Given the description of an element on the screen output the (x, y) to click on. 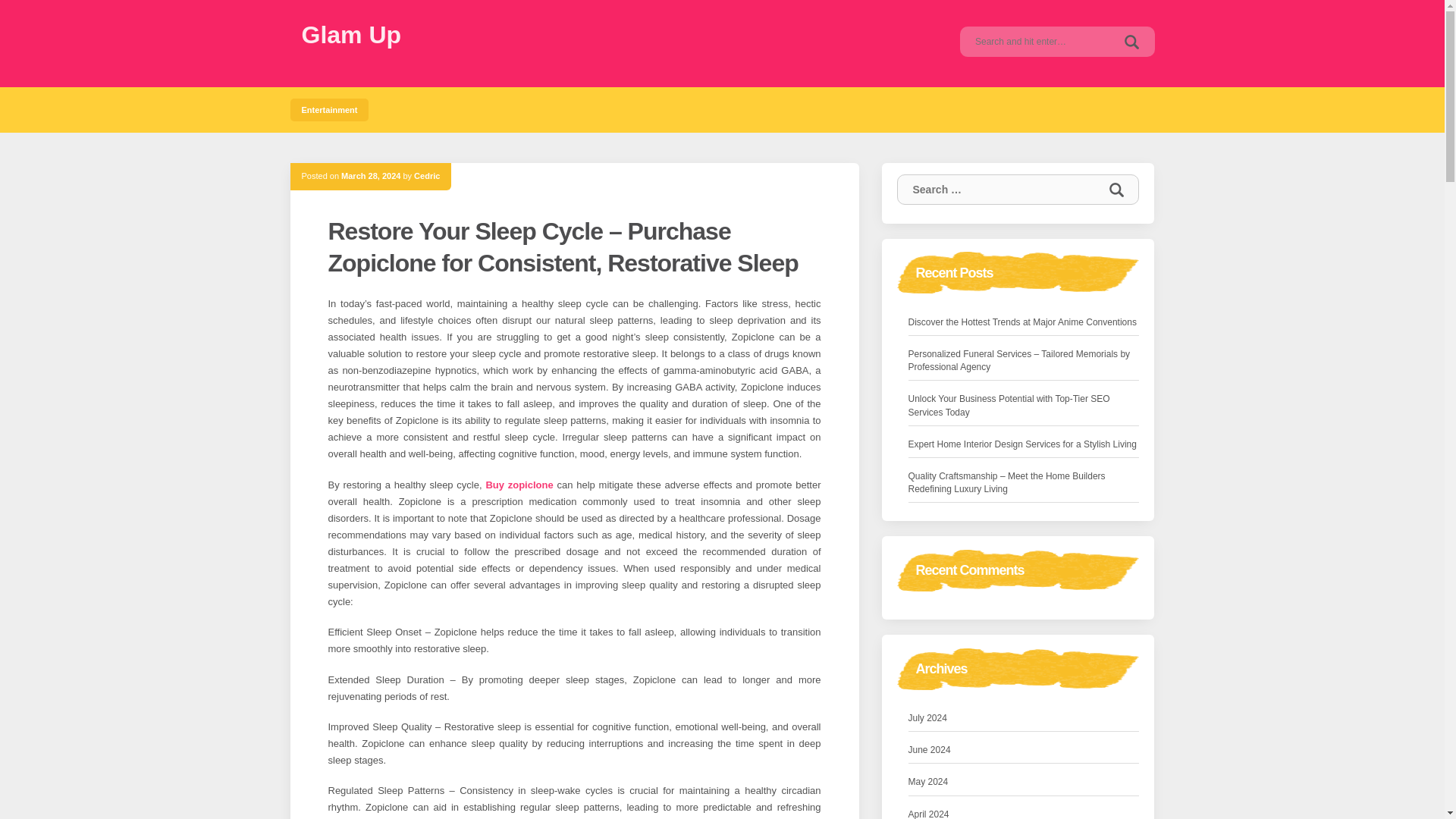
Glam Up (351, 34)
Buy zopiclone (518, 484)
Search (1115, 189)
Search (1131, 41)
Entertainment (328, 109)
May 2024 (928, 781)
April 2024 (928, 812)
Expert Home Interior Design Services for a Stylish Living (1022, 444)
June 2024 (929, 750)
Cedric (426, 175)
Entertainment (328, 109)
July 2024 (927, 718)
Search (1115, 189)
Search (1115, 189)
